Given the description of an element on the screen output the (x, y) to click on. 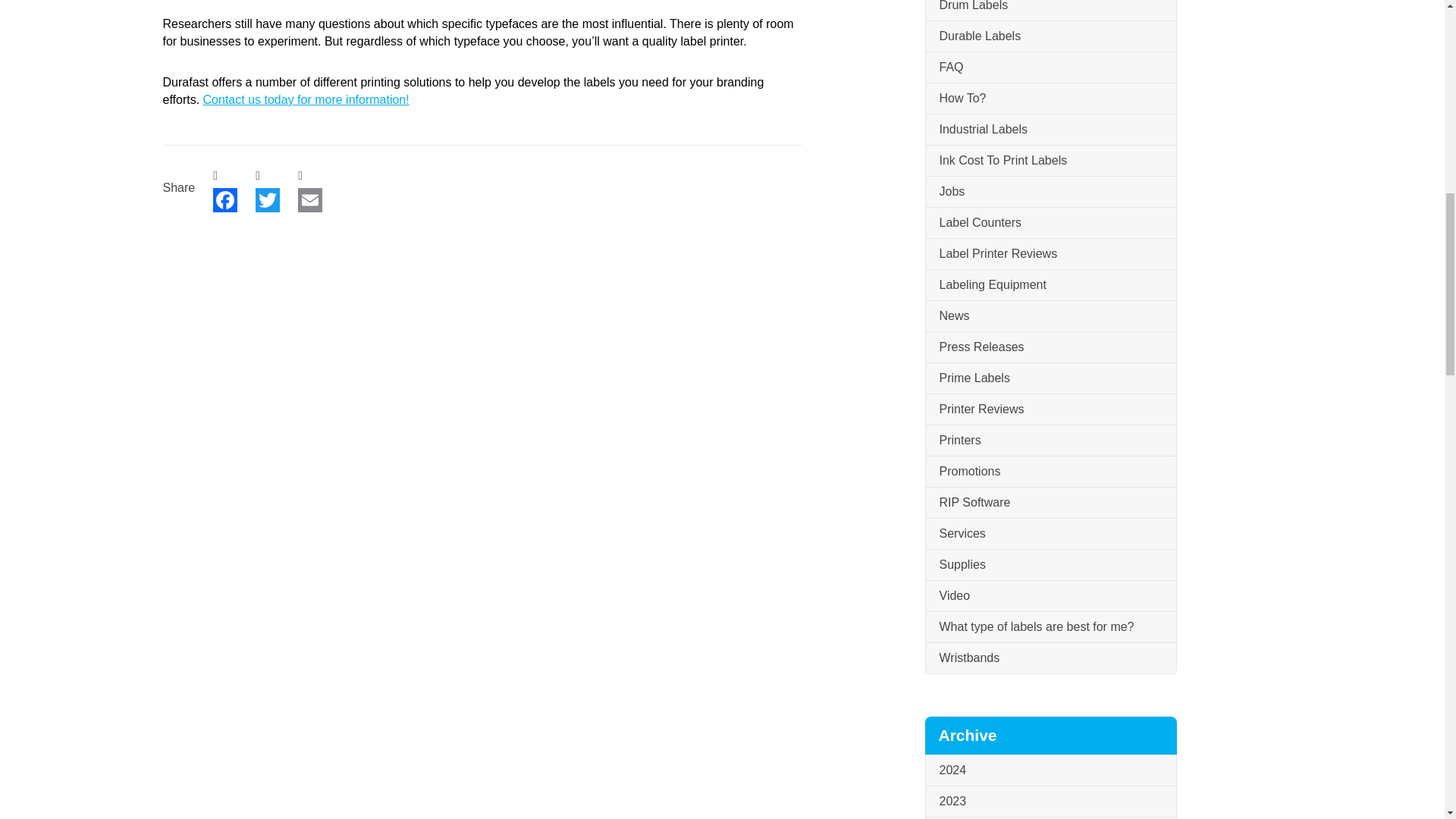
Press Releases (1049, 347)
Ink Cost To Print Labels (1049, 160)
FAQ (1049, 67)
Label Counters (1049, 223)
How To? (1049, 98)
Jobs (1049, 192)
Industrial Labels (1049, 129)
Printer Reviews (1049, 409)
News (1049, 316)
Durable Labels (1049, 36)
Label Printer Reviews (1049, 254)
Drum Labels (1049, 10)
Labeling Equipment (1049, 285)
Printers (1049, 440)
Contact us today for more information! (306, 99)
